Given the description of an element on the screen output the (x, y) to click on. 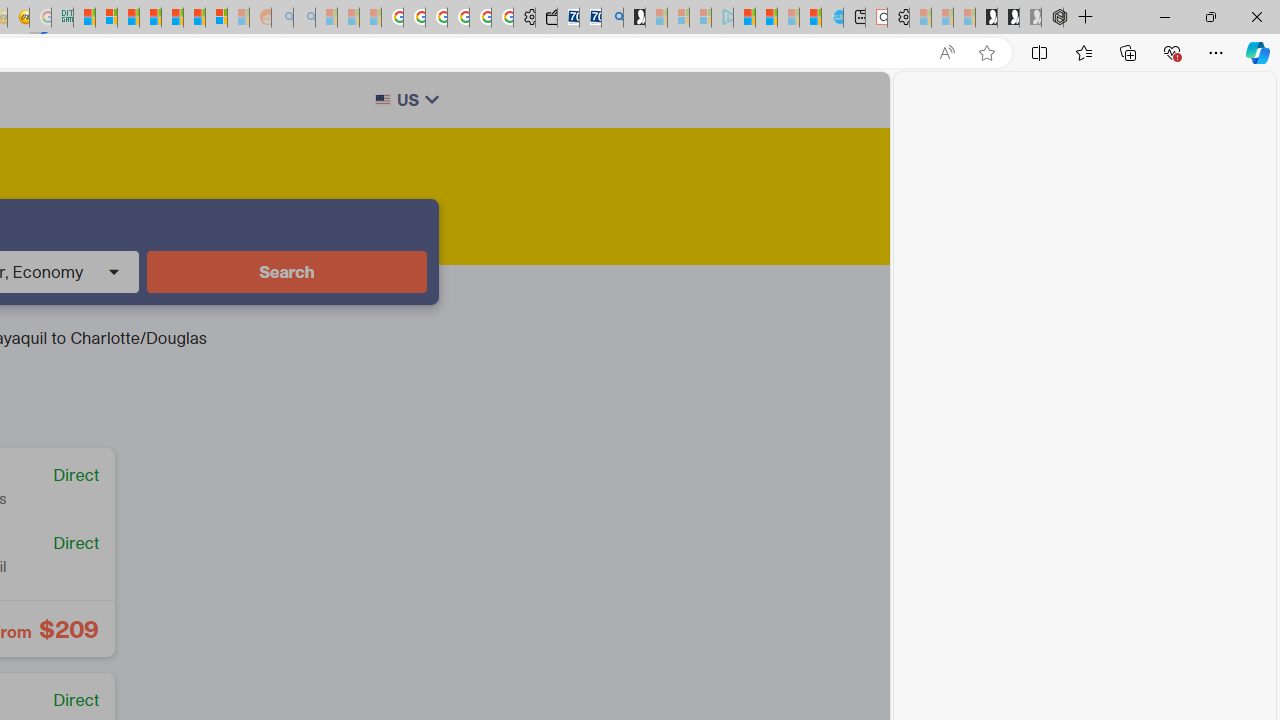
Microsoft Start - Sleeping (788, 17)
Restore (1210, 16)
Wallet (546, 17)
Class: w-full h-auto rounded-sm border border-gray-200 (381, 99)
